Given the description of an element on the screen output the (x, y) to click on. 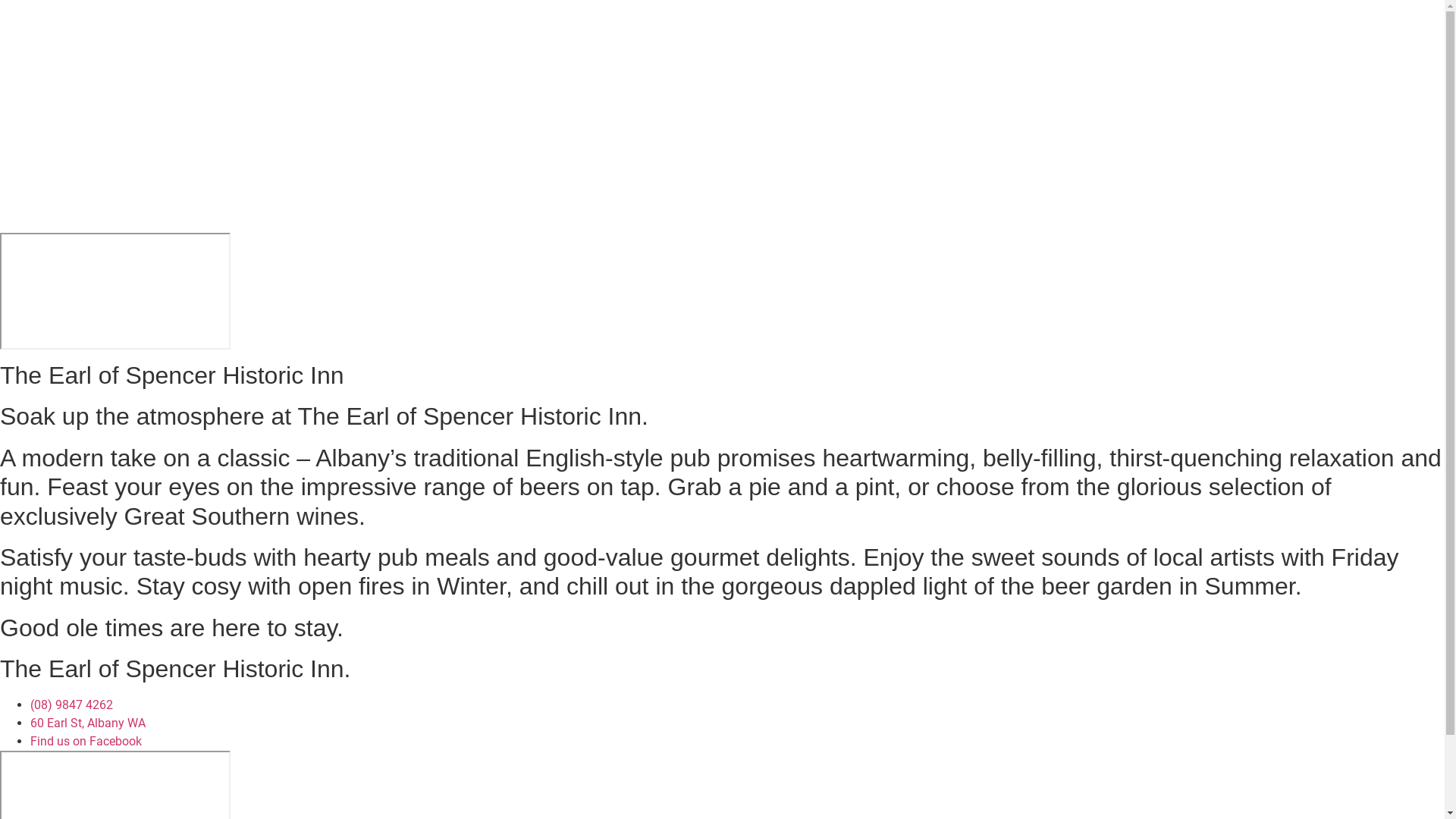
Find us on Facebook Element type: text (85, 741)
(08) 9847 4262 Element type: text (71, 704)
60 Earl St, Albany WA Element type: text (87, 722)
vimeo Video Player Element type: hover (115, 290)
